Given the description of an element on the screen output the (x, y) to click on. 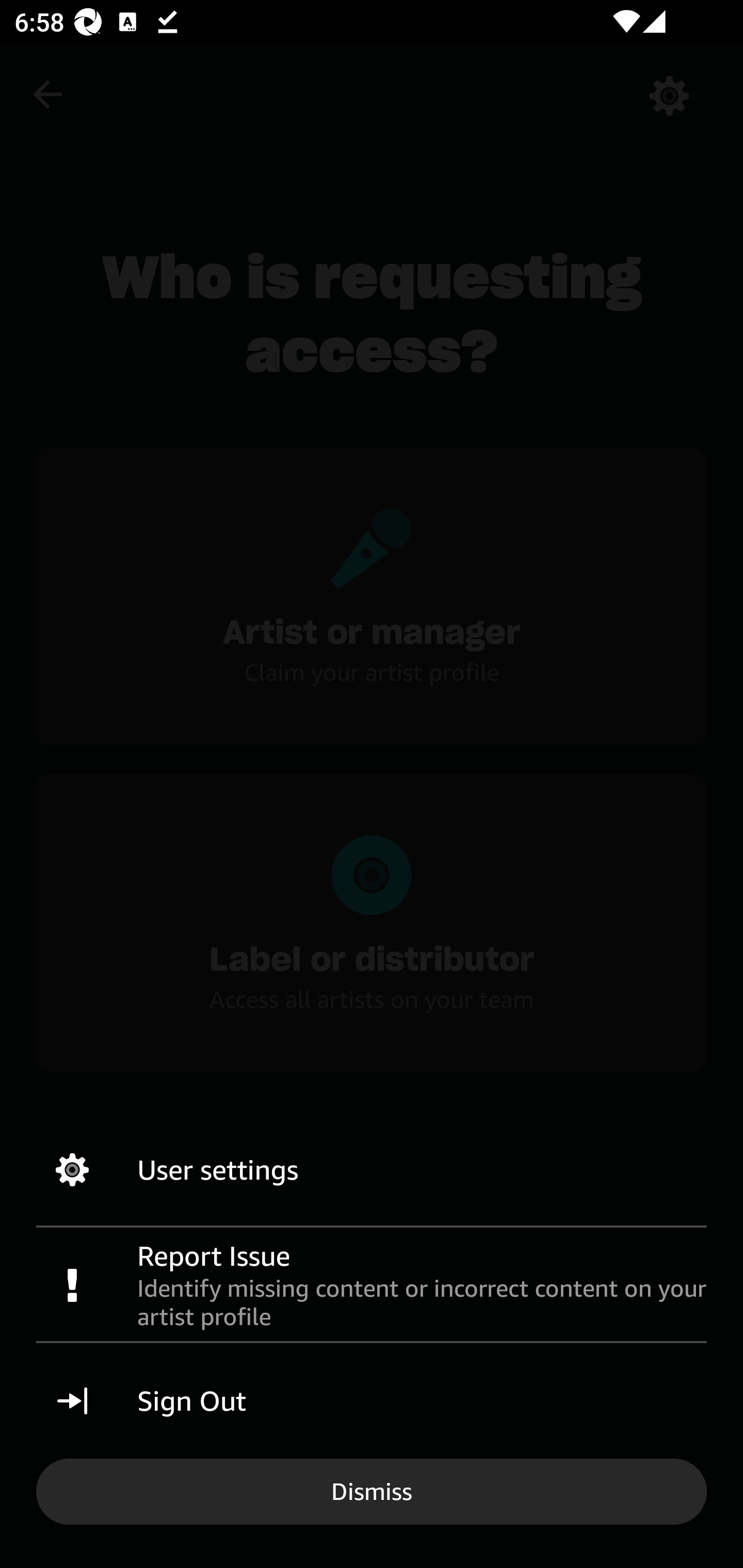
User settings  icon User settings User settings (371, 1169)
Sign Out  icon Sign Out Sign Out (371, 1400)
Dismiss button Dismiss (371, 1491)
